Given the description of an element on the screen output the (x, y) to click on. 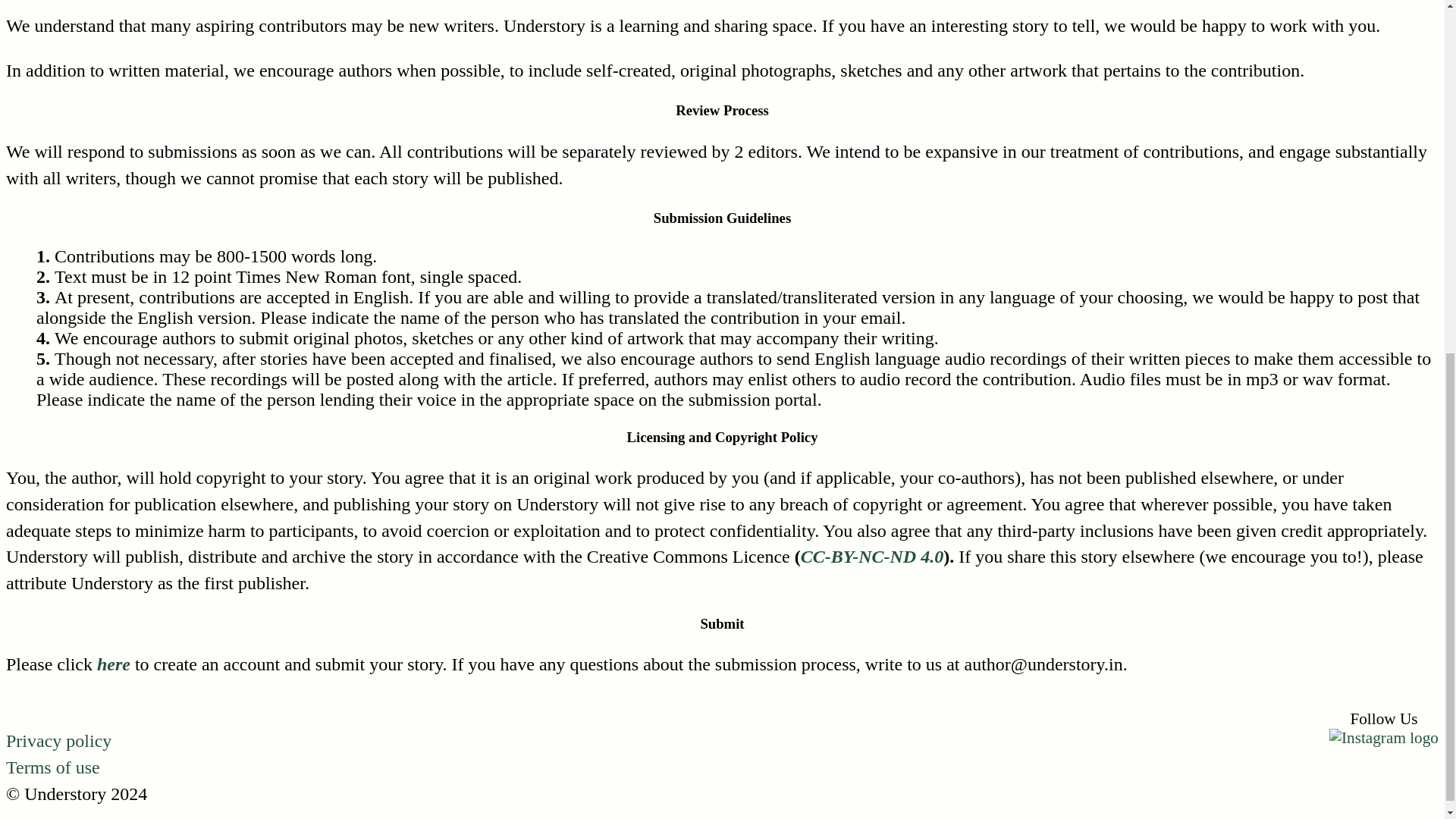
CC-BY-NC-ND 4.0 (871, 556)
Terms of use (52, 767)
Privacy policy (58, 741)
here (114, 664)
